Given the description of an element on the screen output the (x, y) to click on. 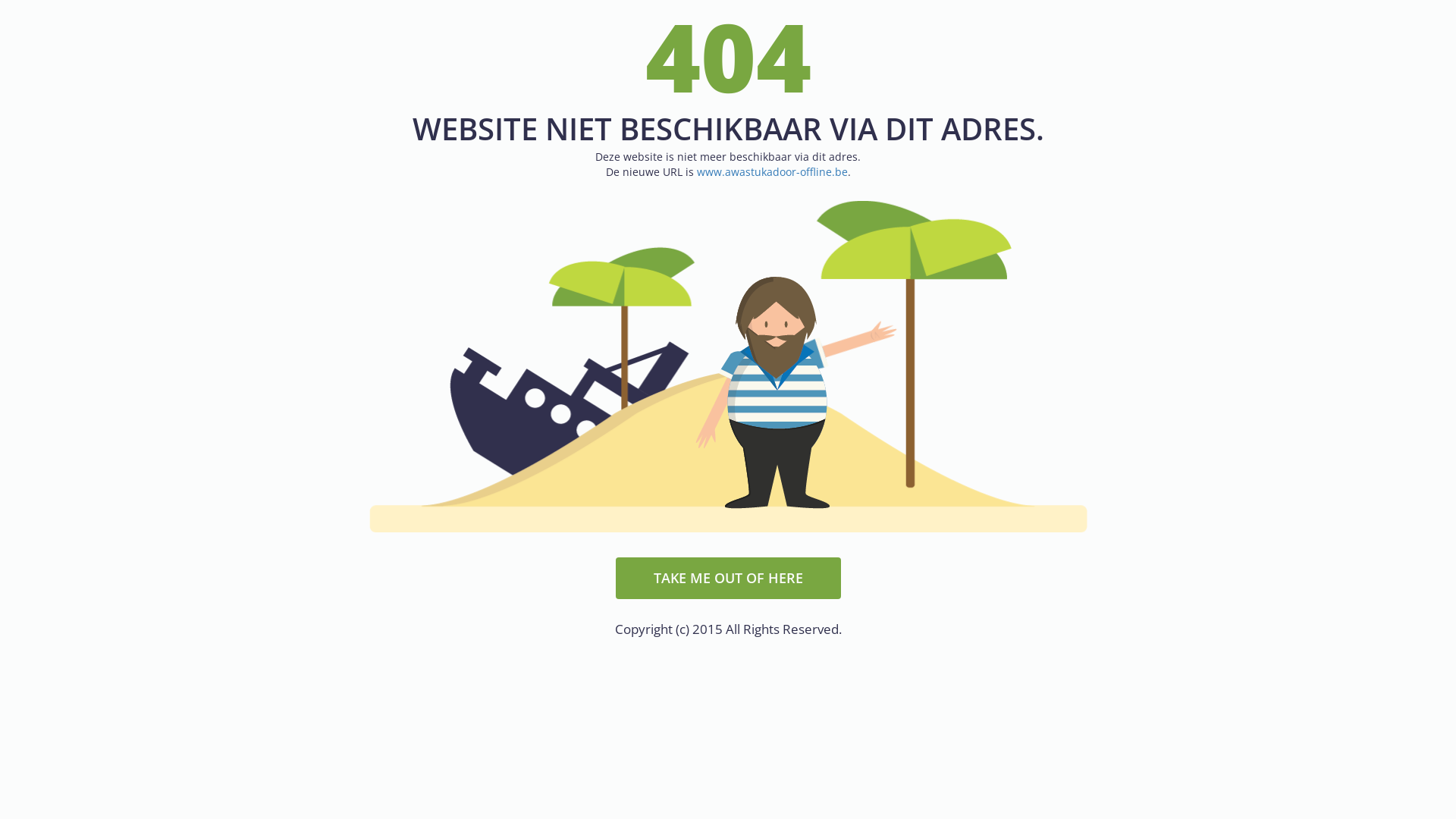
TAKE ME OUT OF HERE Element type: text (727, 576)
www.awastukadoor-offline.be Element type: text (771, 170)
